Given the description of an element on the screen output the (x, y) to click on. 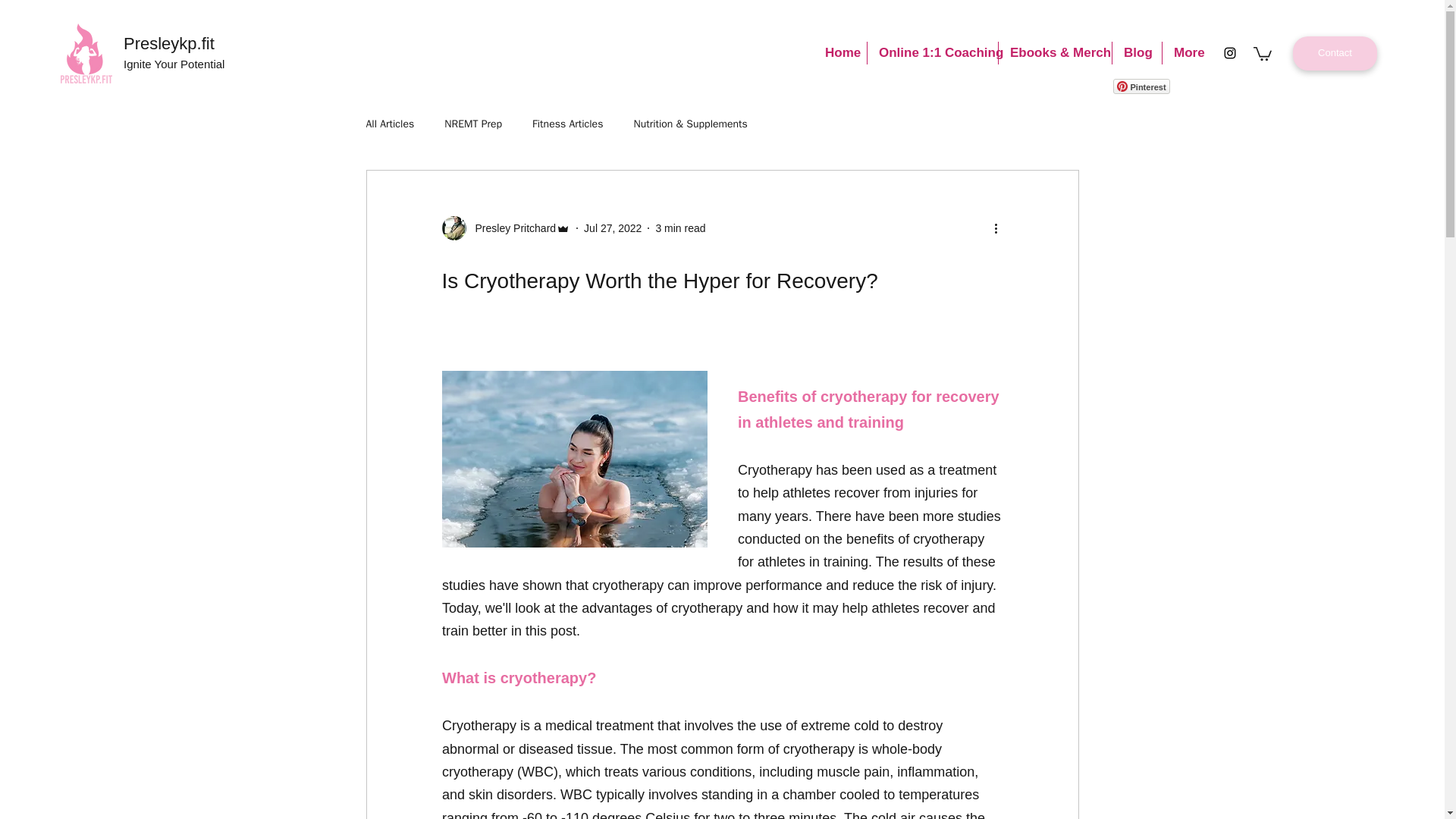
Pinterest (1141, 86)
Jul 27, 2022 (612, 227)
Blog (1136, 52)
Online 1:1 Coaching (932, 52)
Contact (1334, 53)
NREMT Prep (473, 124)
All Articles (389, 124)
Pinterest (1141, 86)
Home (839, 52)
Presley Pritchard (505, 228)
Presleykp.fit (168, 43)
3 min read (679, 227)
Fitness Articles (567, 124)
Presley Pritchard (510, 228)
